Given the description of an element on the screen output the (x, y) to click on. 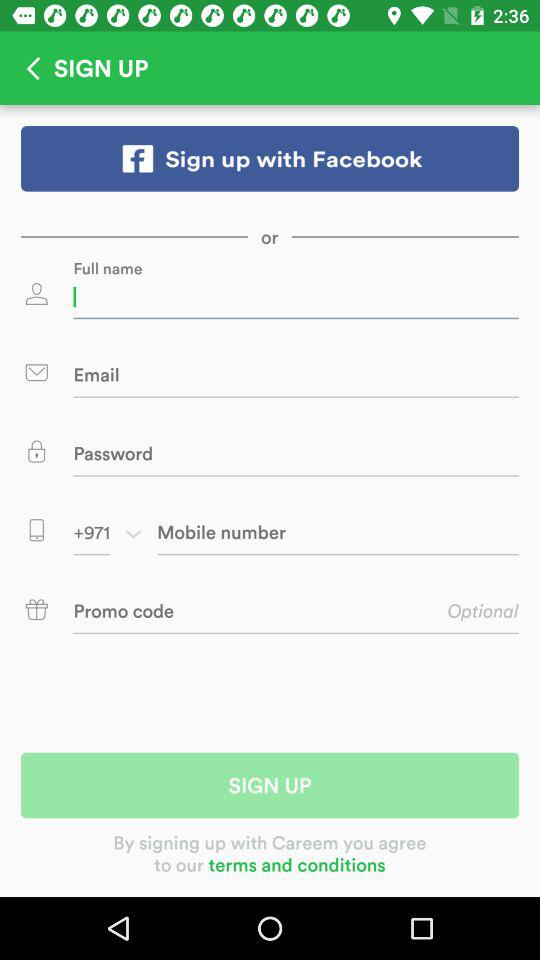
access sign up page (270, 158)
